Given the description of an element on the screen output the (x, y) to click on. 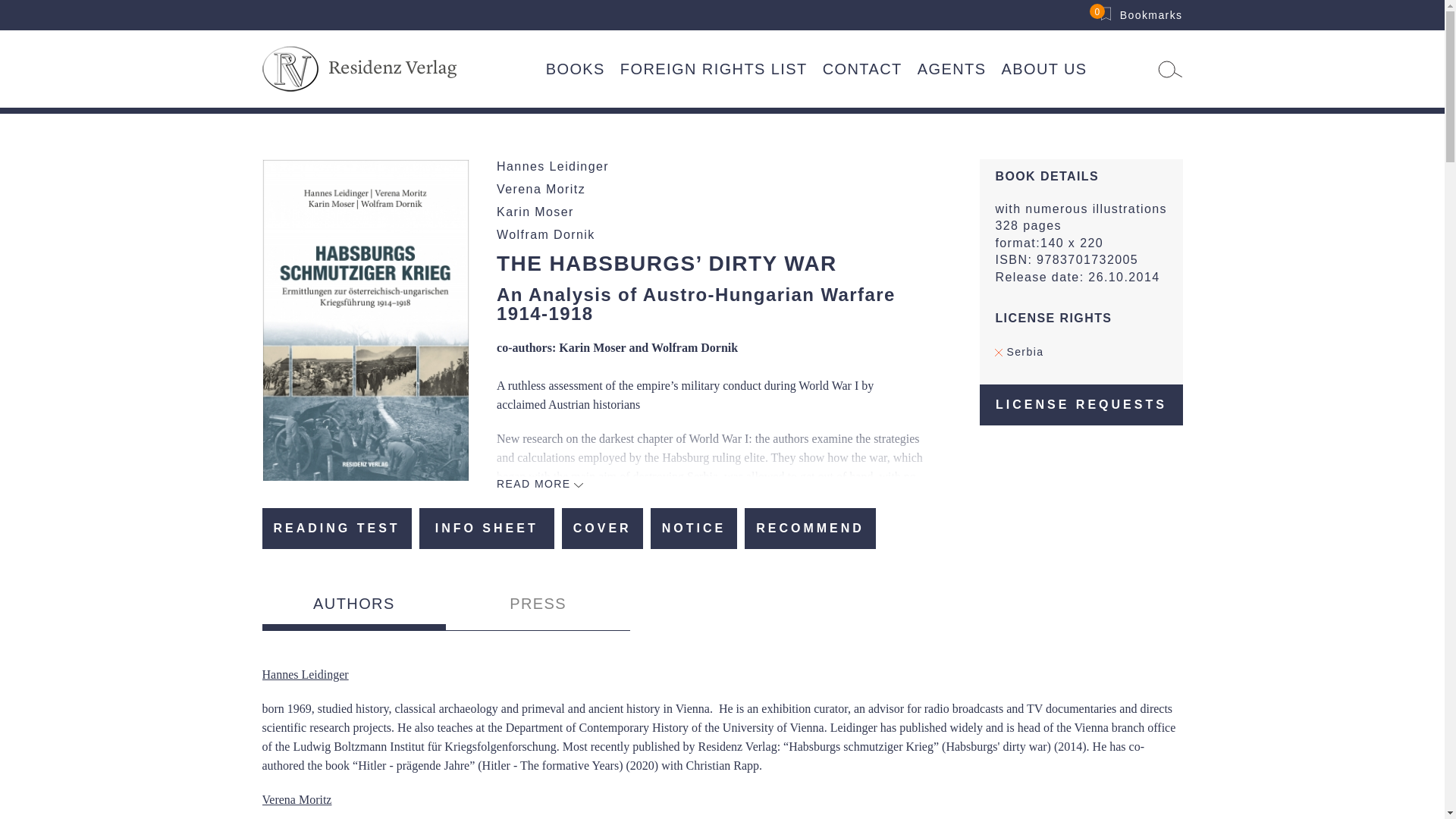
COVER (602, 527)
RECOMMEND (810, 527)
Cover herunterladen (602, 527)
Contact (862, 68)
About us (1043, 68)
AGENTS (952, 68)
Wolfram Dornik (545, 234)
CONTACT (862, 68)
FOREIGN RIGHTS LIST (713, 68)
Empfehlen (810, 527)
ABOUT US (1043, 68)
Foreign Rights List (713, 68)
Leseprobe (337, 527)
Merken (694, 527)
NOTICE (694, 527)
